Given the description of an element on the screen output the (x, y) to click on. 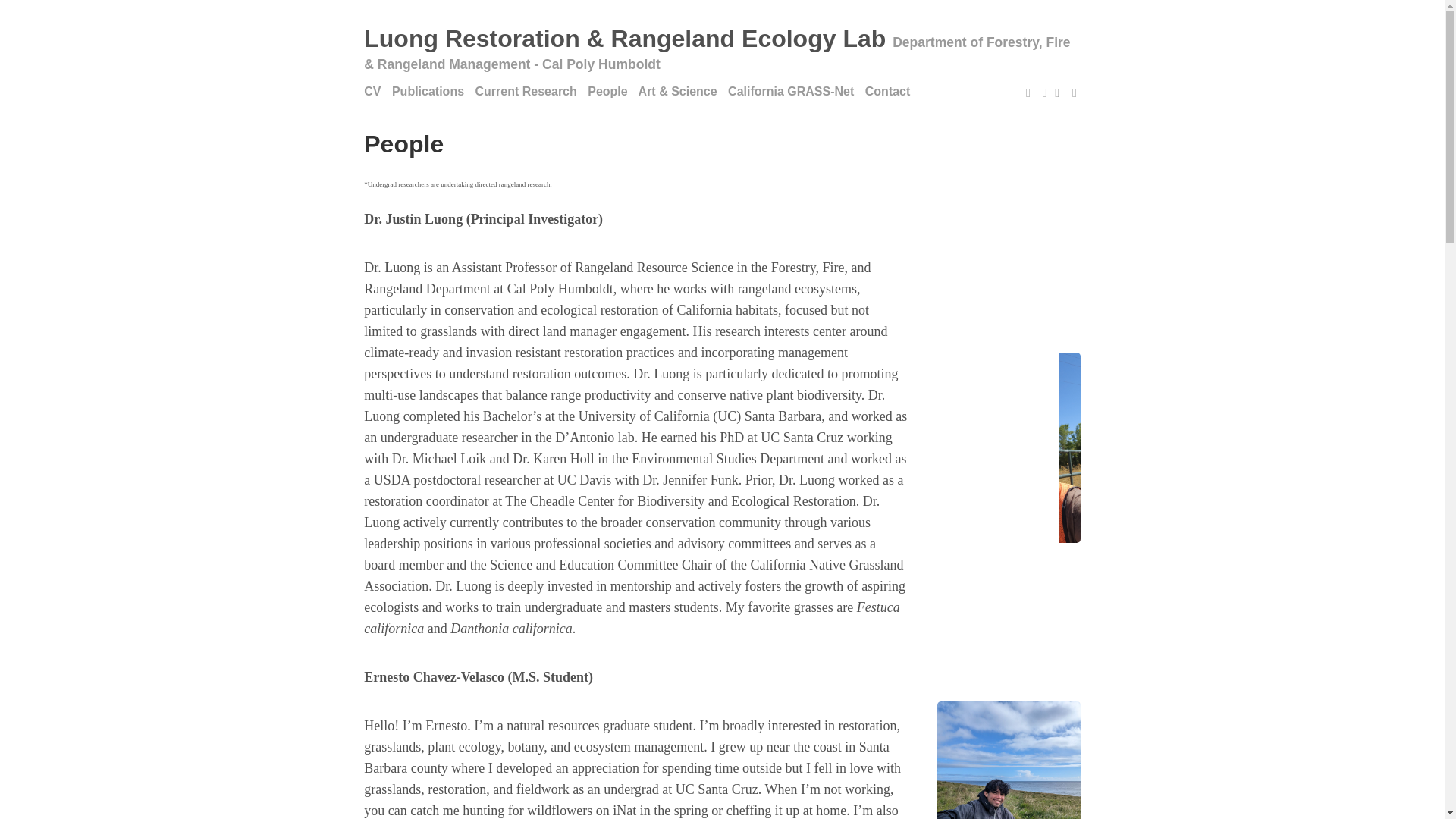
California GRASS-Net (794, 91)
People (611, 91)
Current Research (530, 91)
CV (376, 91)
Publications (431, 91)
Contact (891, 91)
